Given the description of an element on the screen output the (x, y) to click on. 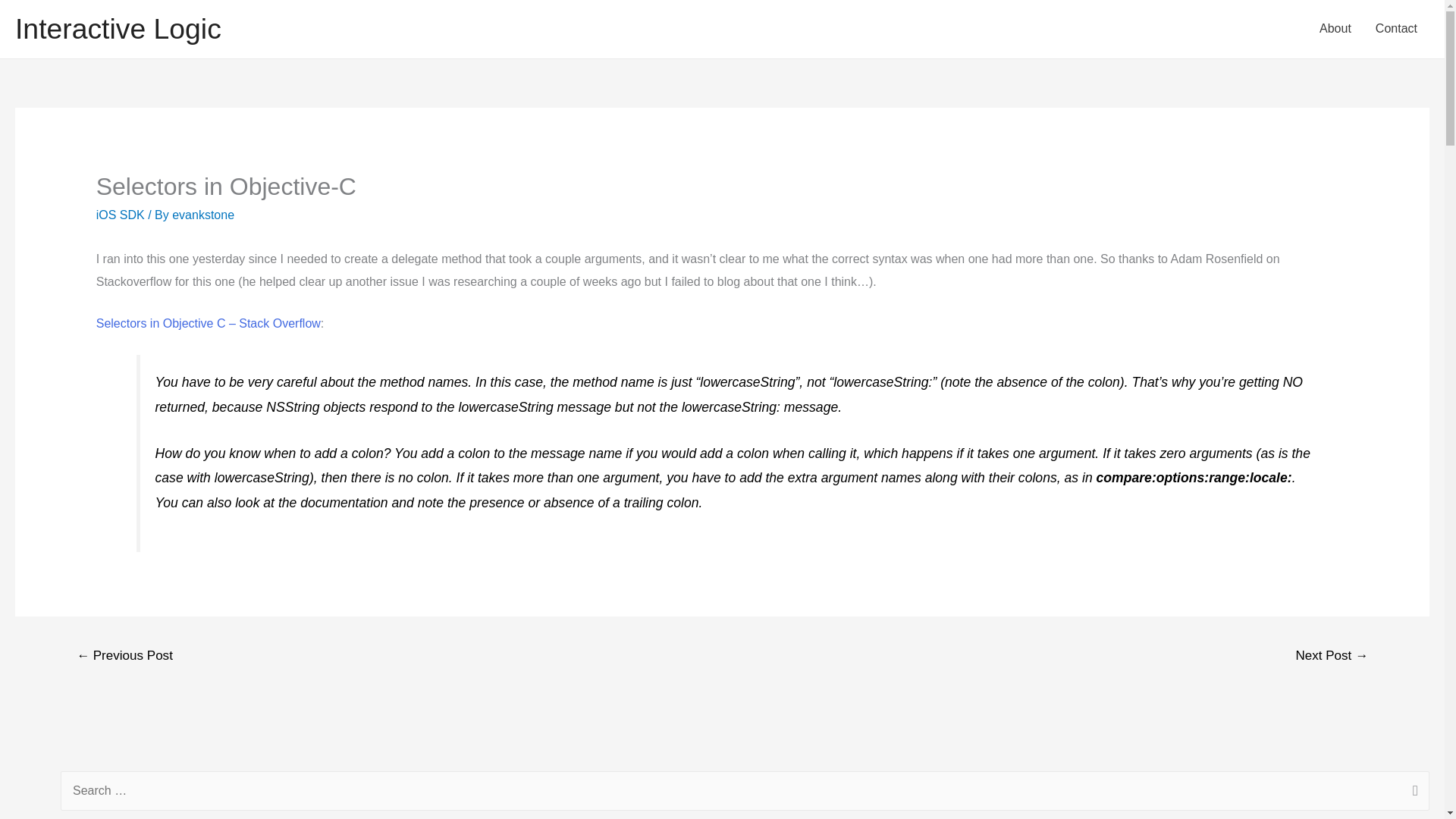
Contact (1395, 29)
Interactive Logic (117, 29)
About (1334, 29)
View all posts by evankstone (202, 214)
iOS SDK (120, 214)
evankstone (202, 214)
